Given the description of an element on the screen output the (x, y) to click on. 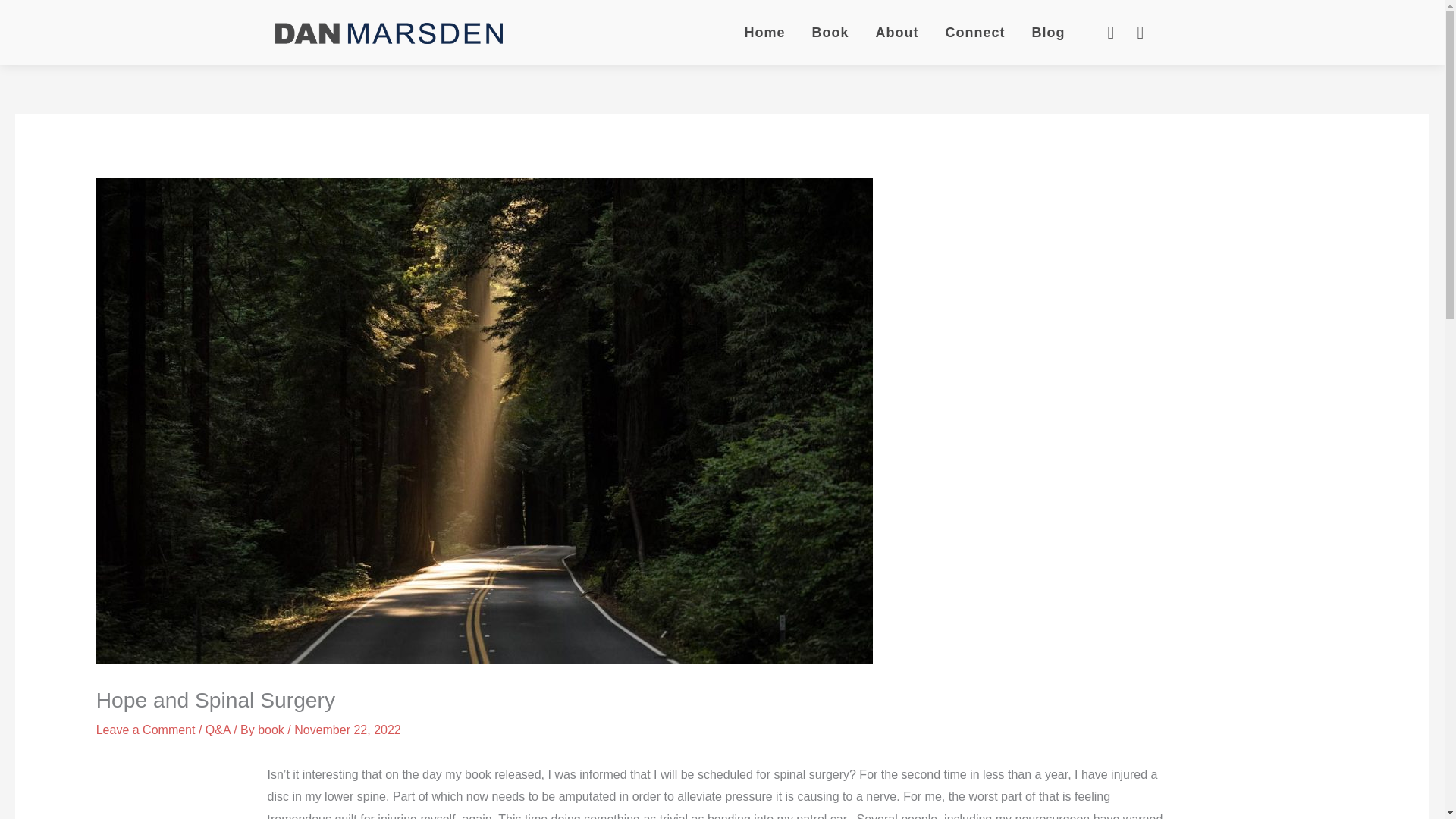
Leave a Comment (145, 729)
Book (829, 32)
book (271, 729)
Home (764, 32)
Connect (974, 32)
Blog (1047, 32)
View all posts by book (271, 729)
About (896, 32)
